Given the description of an element on the screen output the (x, y) to click on. 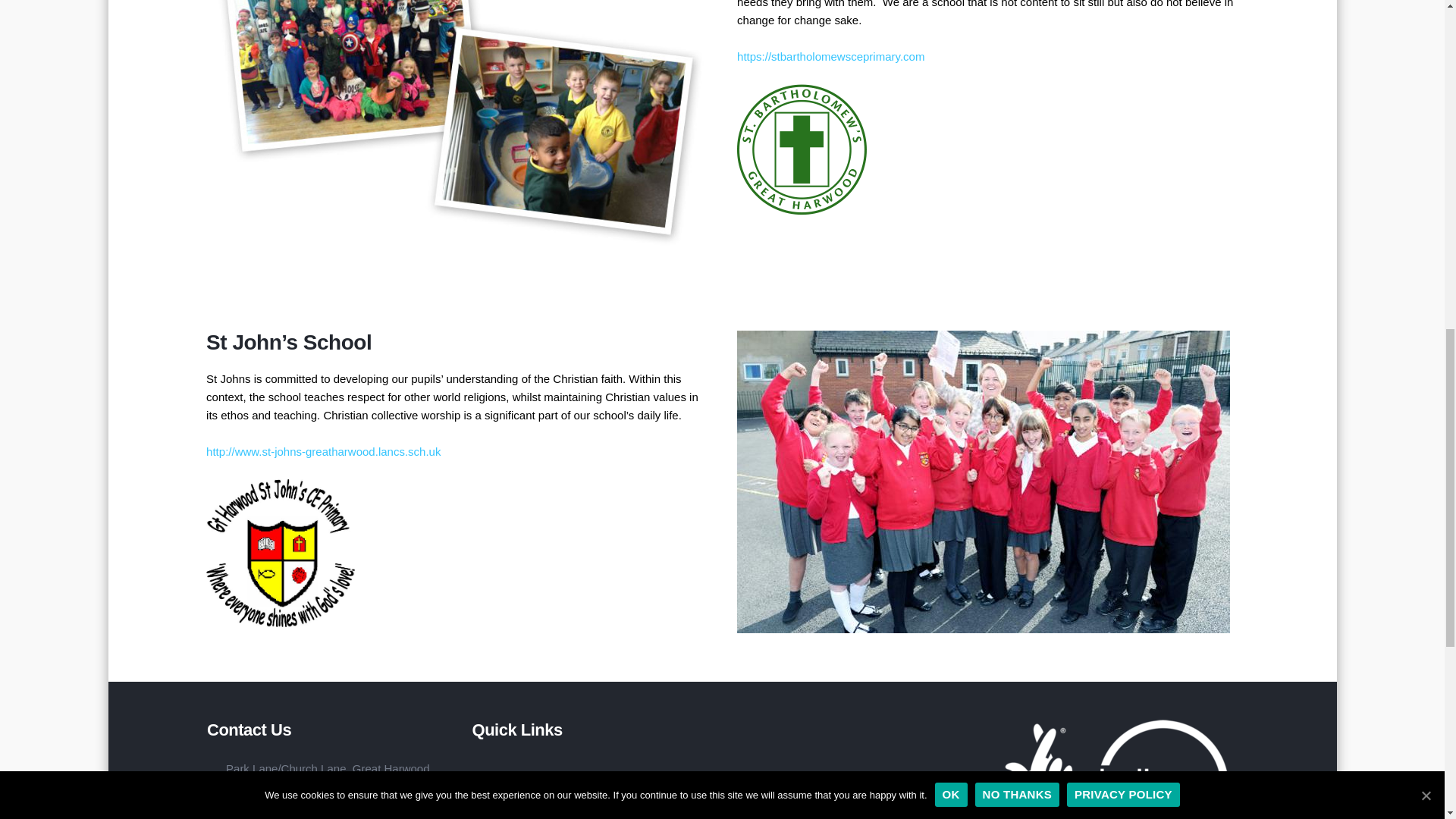
SCHOOLS (597, 805)
